Given the description of an element on the screen output the (x, y) to click on. 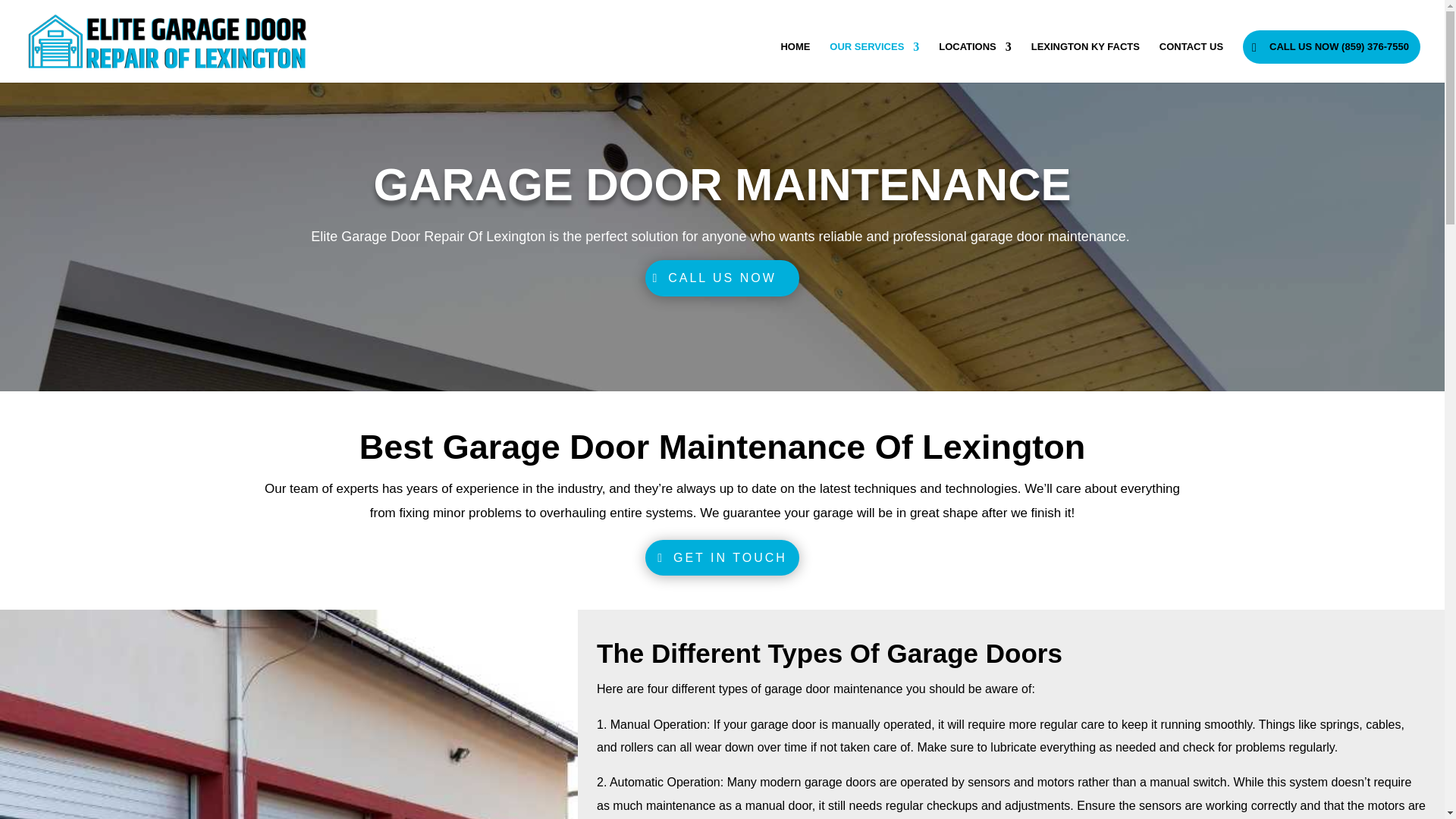
OUR SERVICES (873, 61)
LOCATIONS (975, 61)
CALL US NOW (722, 277)
CONTACT US (1190, 61)
LEXINGTON KY FACTS (1085, 61)
